Given the description of an element on the screen output the (x, y) to click on. 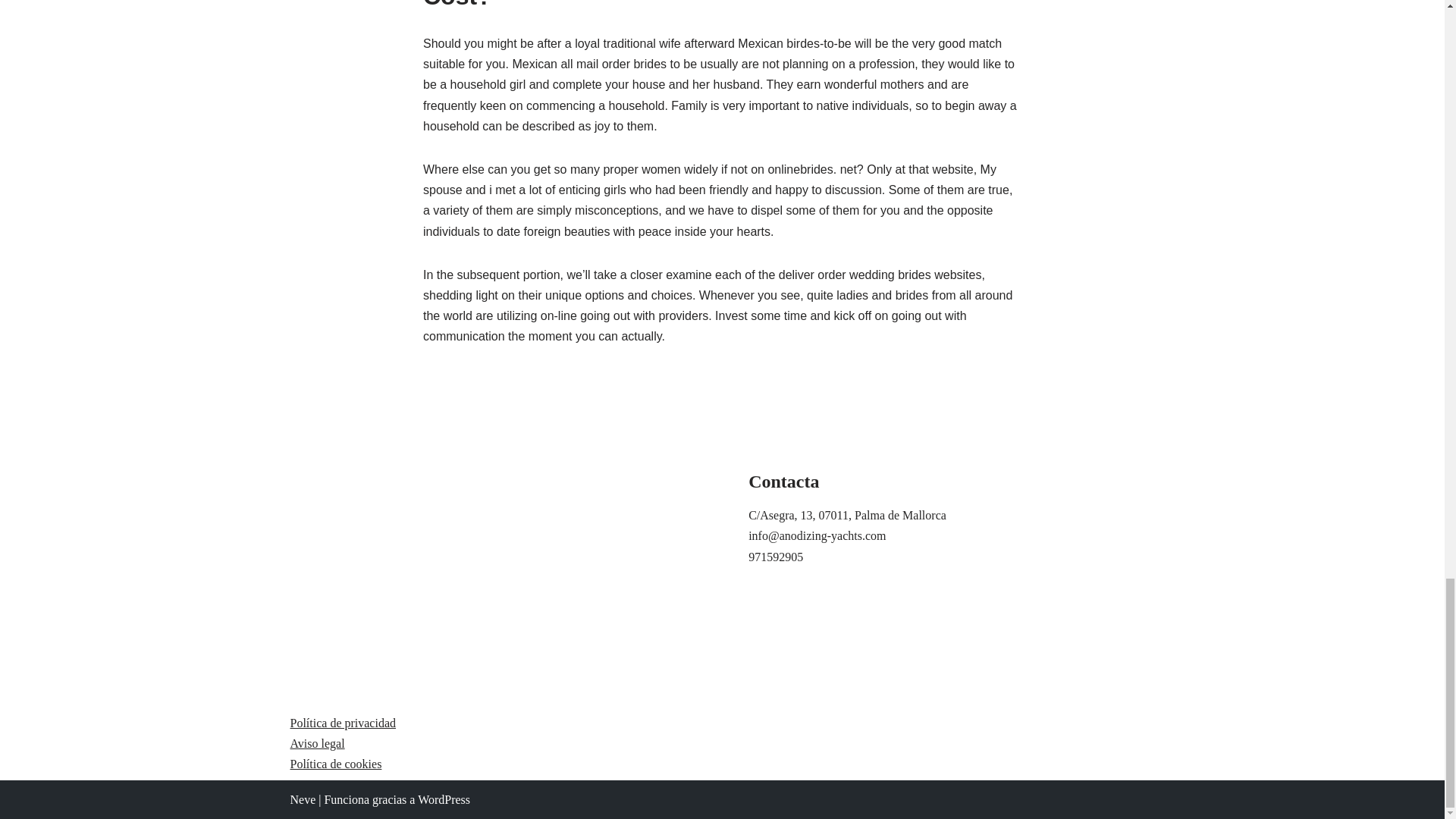
Aviso legal (316, 743)
WordPress (443, 799)
Neve (302, 799)
